Given the description of an element on the screen output the (x, y) to click on. 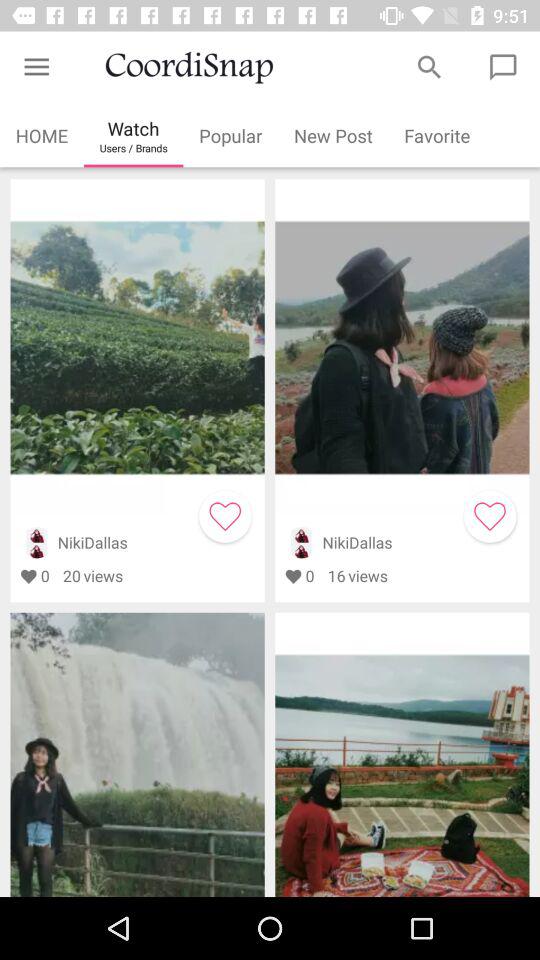
likes (225, 516)
